Given the description of an element on the screen output the (x, y) to click on. 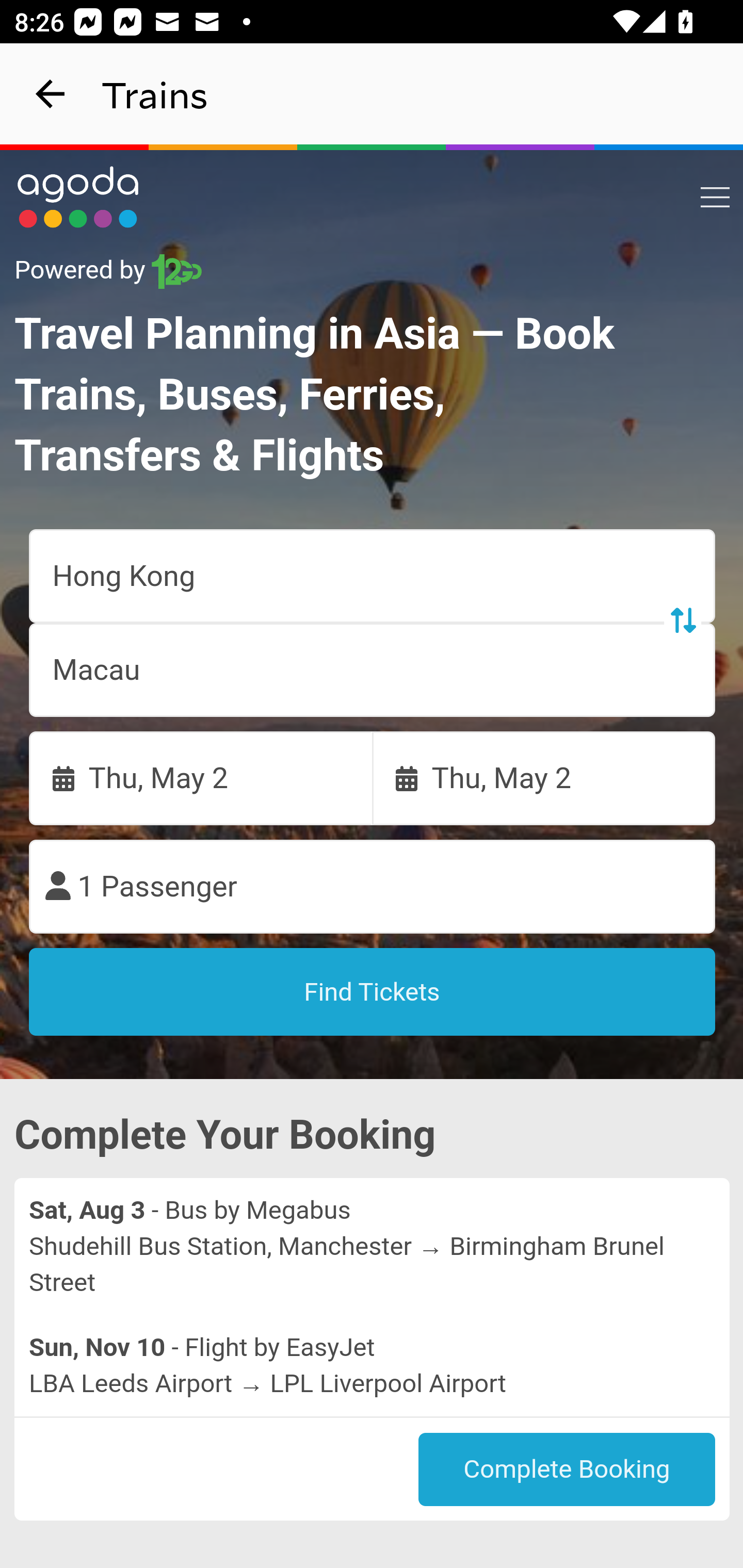
navigation_button (50, 93)
Link to main page 5418 (78, 197)
Hong Kong Swap trip points (372, 576)
Swap trip points (682, 619)
Macau (372, 670)
Thu, May 2 (200, 778)
Thu, May 2 (544, 778)
 1 Passenger (372, 887)
Find Tickets (372, 992)
Complete Booking (566, 1469)
